Given the description of an element on the screen output the (x, y) to click on. 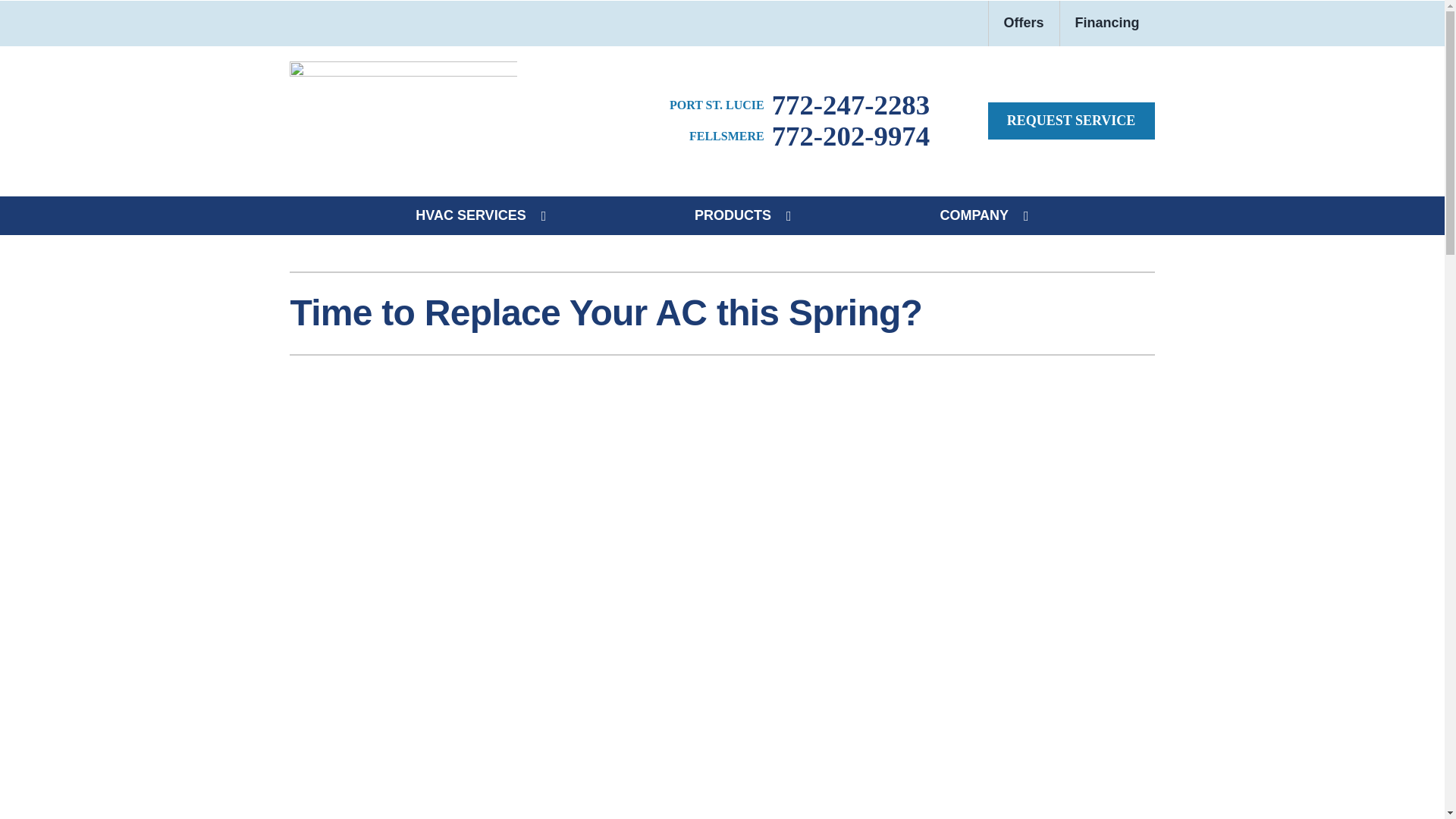
HVAC SERVICES (470, 216)
772-247-2283 (799, 105)
Financing (1106, 22)
PRODUCTS (732, 216)
COMPANY (973, 216)
REQUEST SERVICE (1071, 120)
772-202-9974 (809, 136)
Offers (1023, 22)
